Given the description of an element on the screen output the (x, y) to click on. 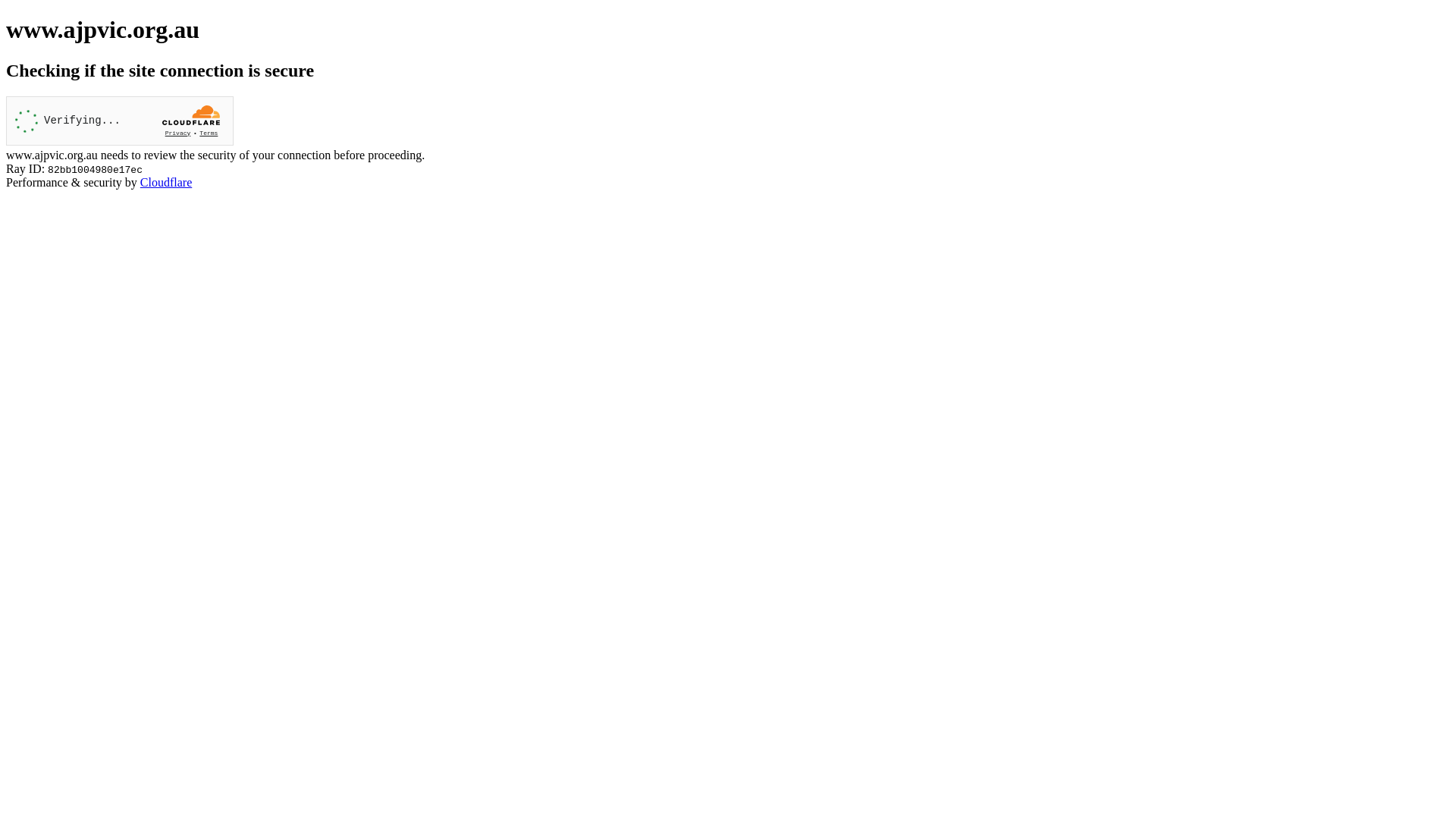
Widget containing a Cloudflare security challenge Element type: hover (119, 120)
Cloudflare Element type: text (165, 181)
